Given the description of an element on the screen output the (x, y) to click on. 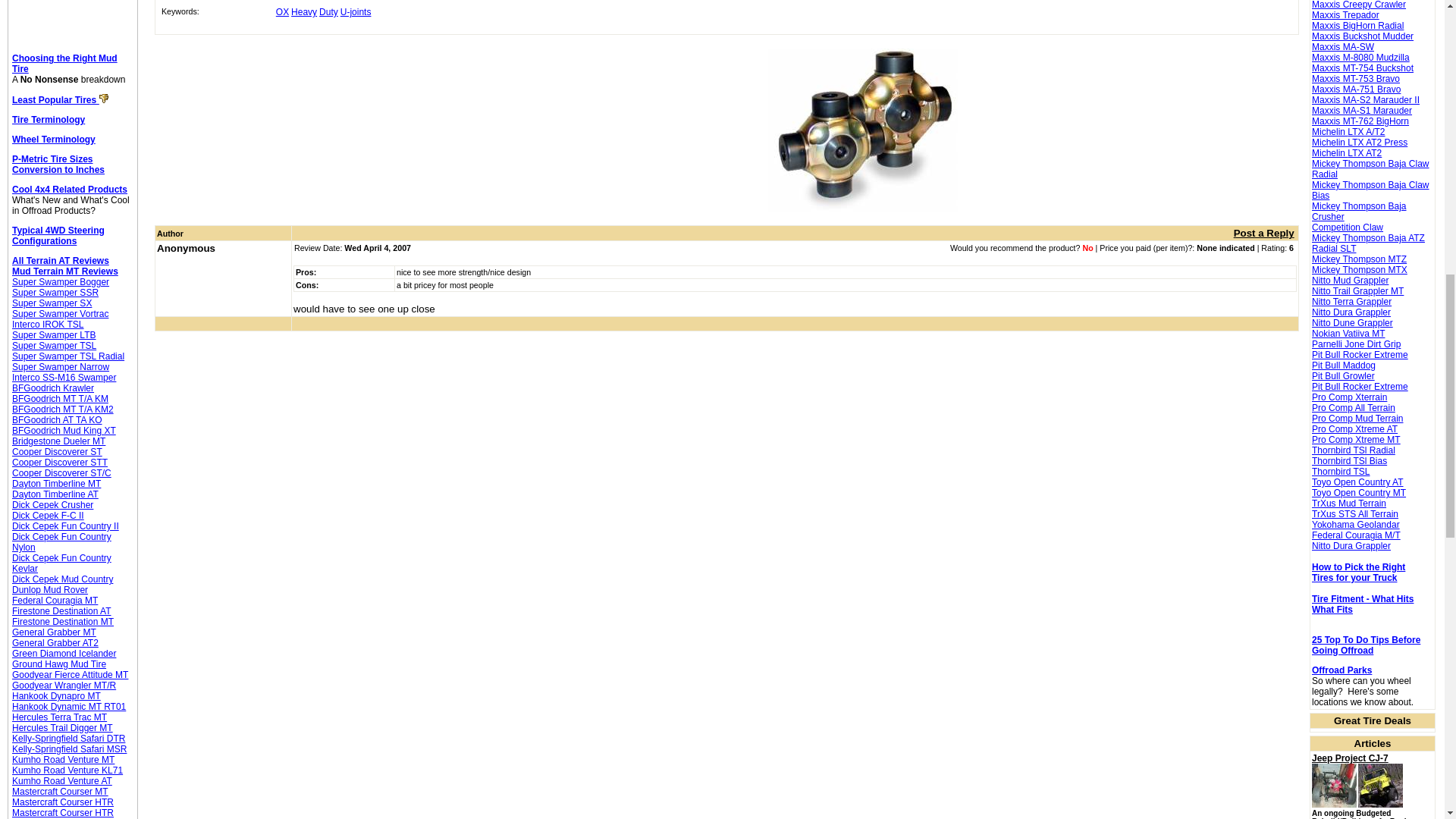
Tire Terminology (47, 119)
Super Swamper Vortrac (59, 313)
Super Swamper SSR (55, 292)
P-Metric Tire Sizes Conversion to Inches (57, 164)
Super Swamper Bogger (60, 281)
Typical 4WD Steering Configurations (57, 235)
Advertisement (72, 10)
Wheel Terminology (53, 139)
Cool 4x4 Related Products (69, 189)
Mud Terrain MT Reviews (64, 271)
All Terrain AT Reviews (60, 260)
Choosing the Right Mud Tire (64, 63)
Super Swamper SX (51, 303)
Least Popular Tires (55, 100)
